Given the description of an element on the screen output the (x, y) to click on. 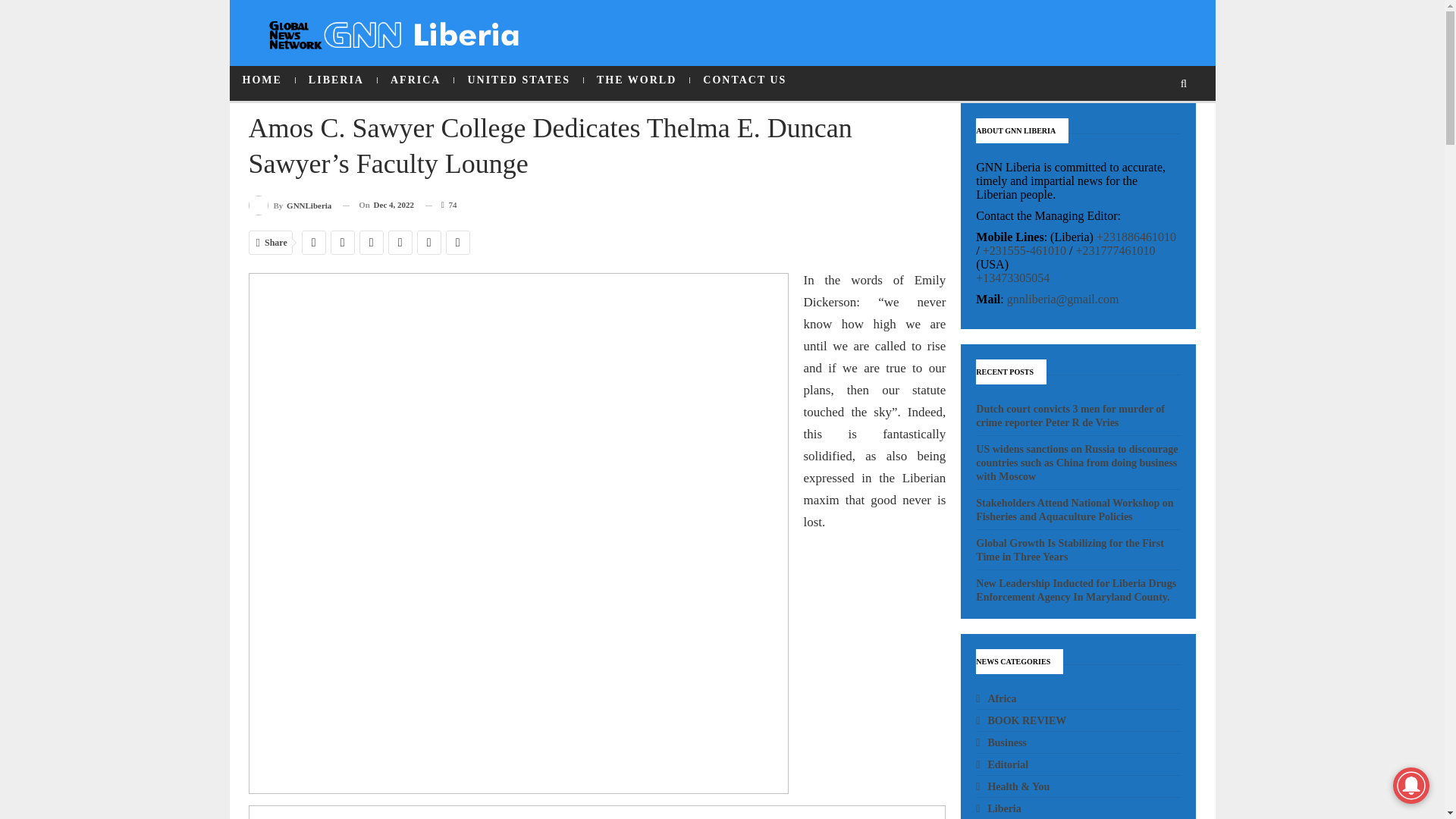
THE WORLD (635, 80)
HOME (261, 80)
LIBERIA (336, 80)
UNITED STATES (518, 80)
CONTACT US (744, 80)
AFRICA (414, 80)
By GNNLiberia (289, 204)
Browse Author Articles (289, 204)
